Given the description of an element on the screen output the (x, y) to click on. 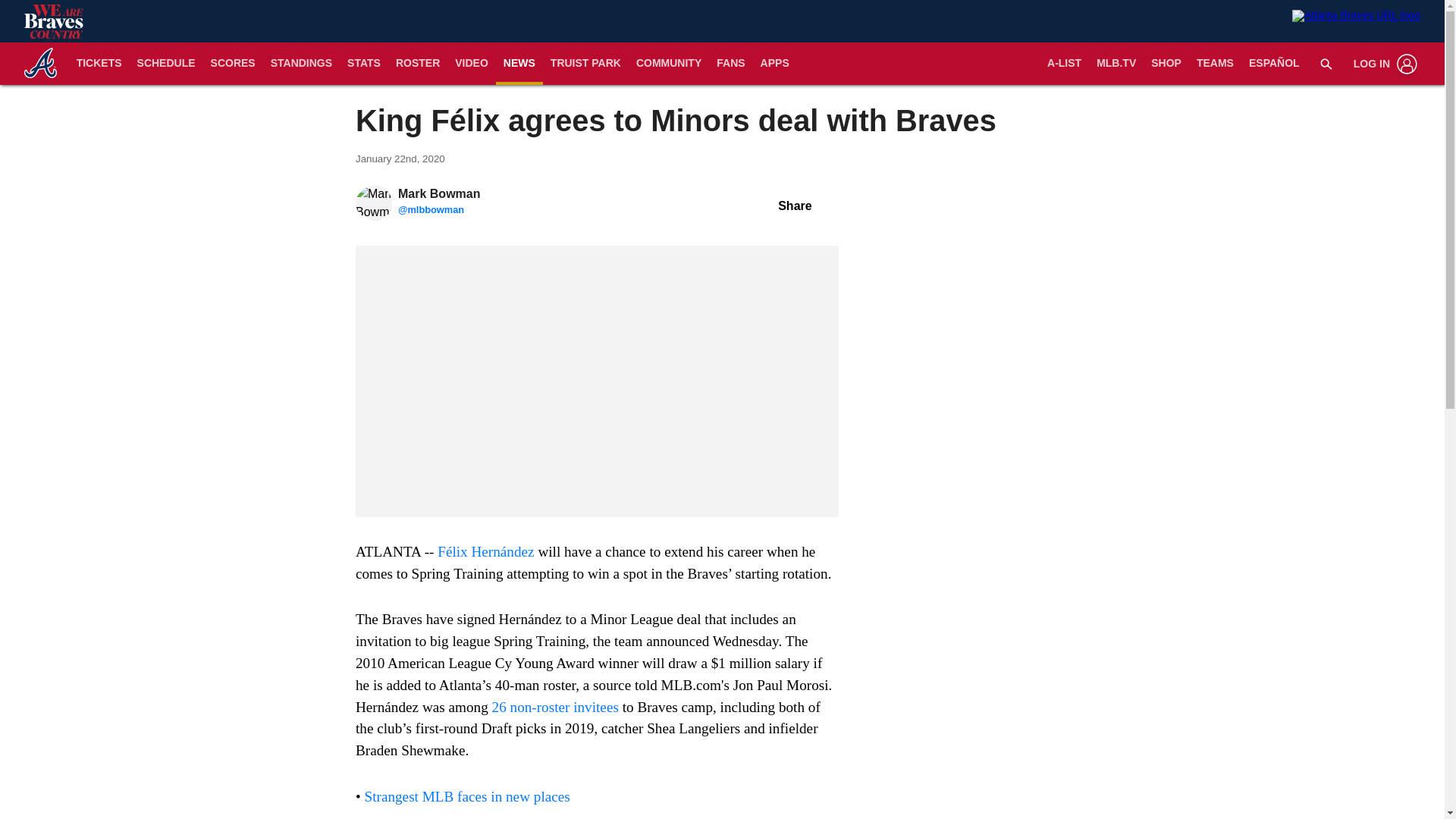
ROSTER (417, 63)
STANDINGS (301, 63)
TICKETS (98, 63)
search-41258 (1326, 63)
SCHEDULE (166, 63)
SCORES (233, 63)
STATS (363, 63)
